Given the description of an element on the screen output the (x, y) to click on. 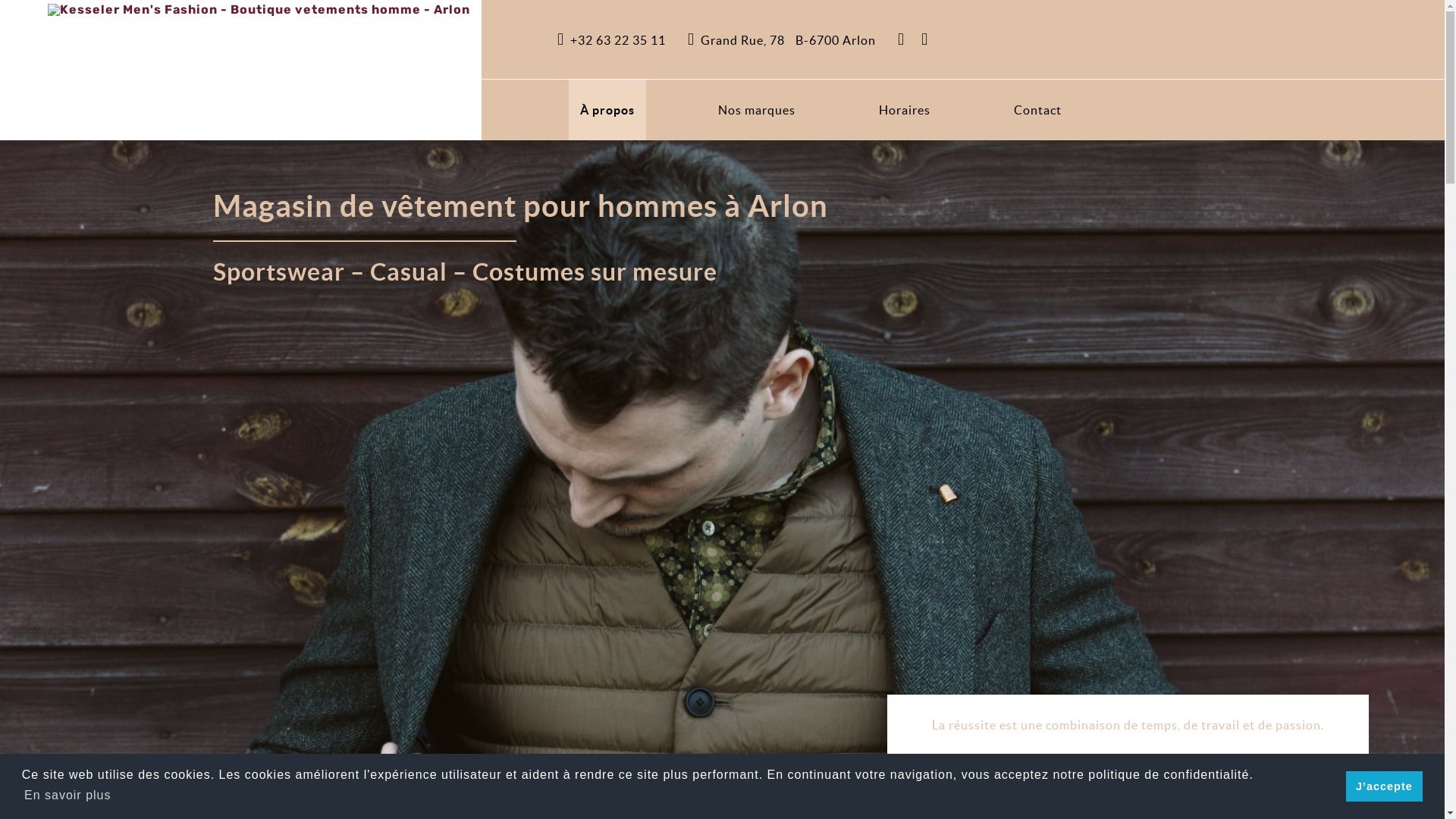
Grand Rue, 78 B-6700 Arlon Element type: text (781, 40)
Nos marques Element type: text (756, 109)
Horaires Element type: text (904, 109)
+32 63 22 35 11 Element type: text (611, 40)
Contact Element type: text (1037, 109)
En savoir plus Element type: text (67, 795)
